Given the description of an element on the screen output the (x, y) to click on. 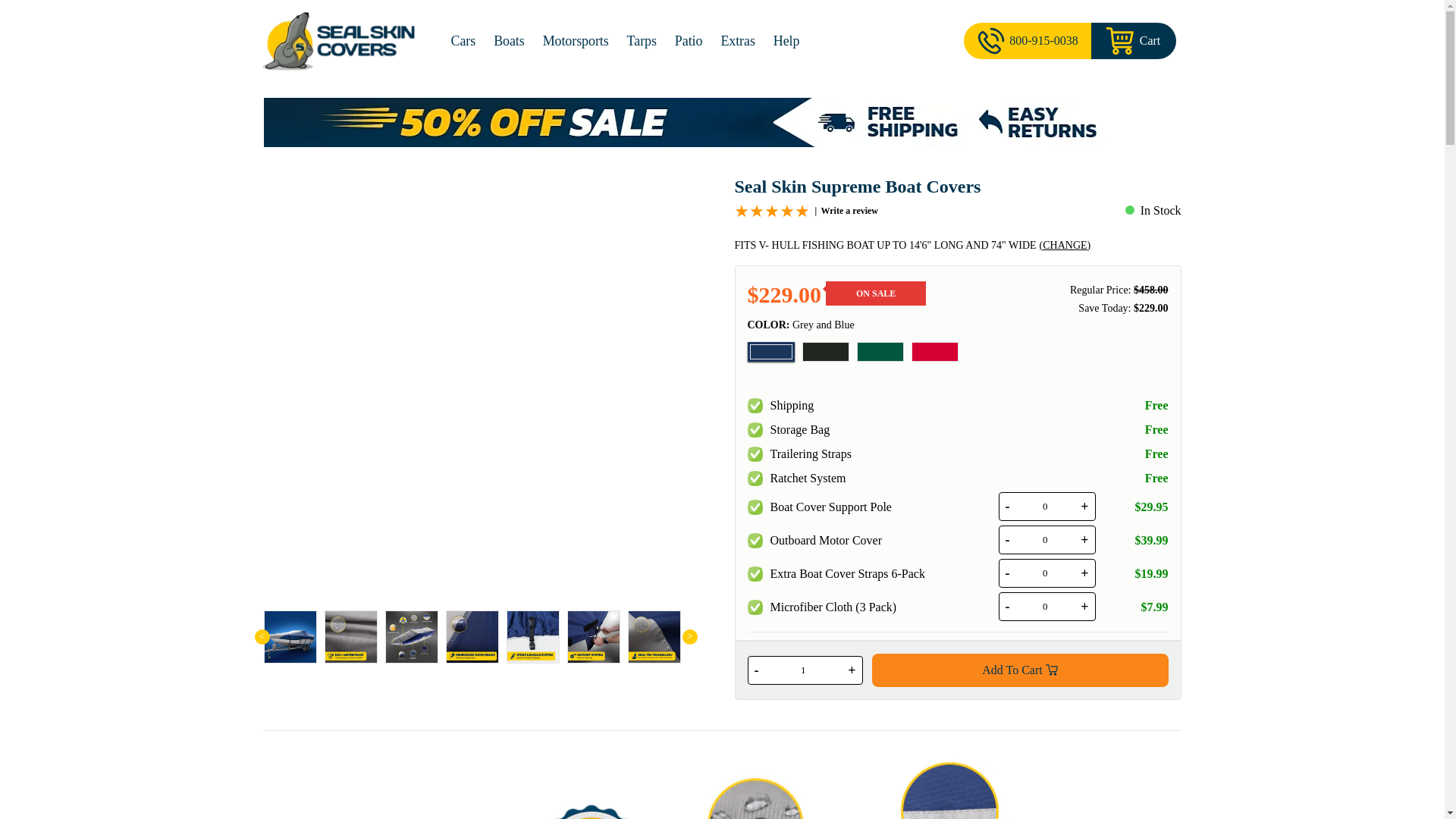
0 (1045, 539)
Cart (1132, 40)
Boats (509, 40)
Extras (736, 40)
0 (1045, 606)
0 (1045, 573)
Motorsports (575, 40)
800-915-0038 (1026, 40)
Tarps (641, 40)
1 (802, 670)
